Given the description of an element on the screen output the (x, y) to click on. 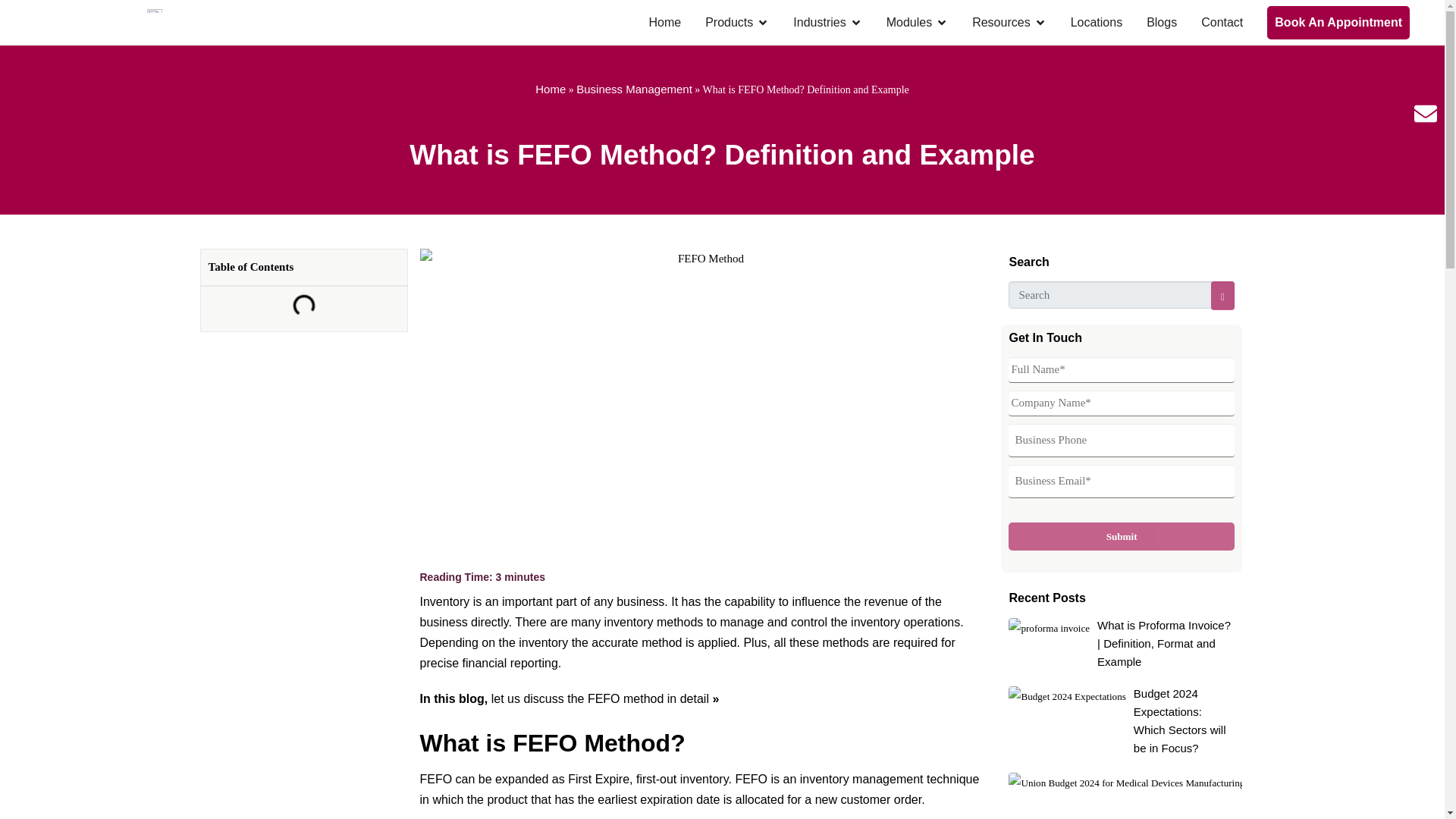
Blogs (1161, 22)
Home (664, 22)
Locations (1096, 22)
Book An Appointment (1337, 22)
Resources (1000, 22)
Contact (1222, 22)
Budget 2024 Expectations: Which Sectors will be in Focus? (1179, 720)
Industries (819, 22)
Modules (908, 22)
Products (728, 22)
Submit (1121, 536)
